Given the description of an element on the screen output the (x, y) to click on. 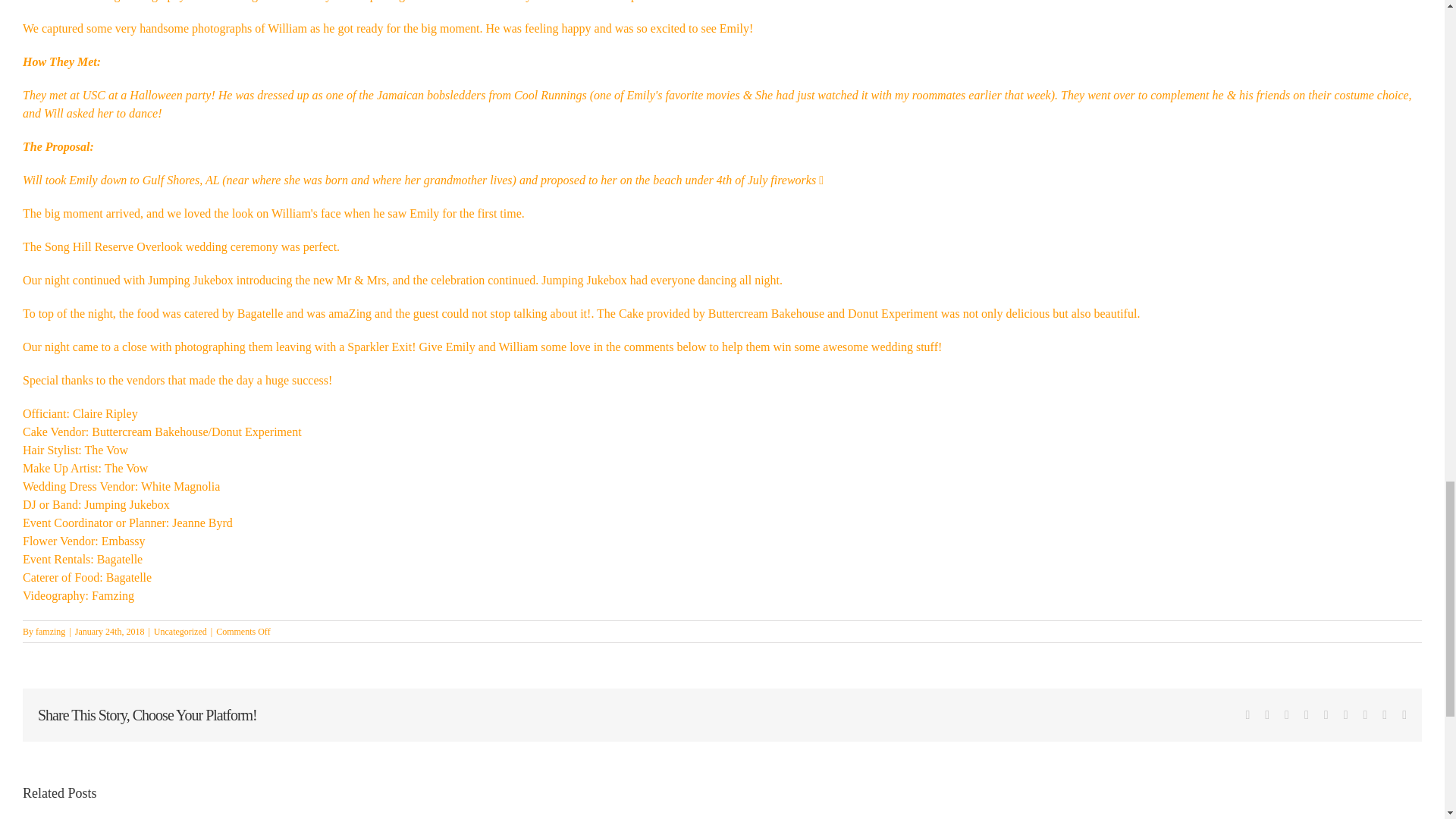
Posts by famzing (49, 631)
